Given the description of an element on the screen output the (x, y) to click on. 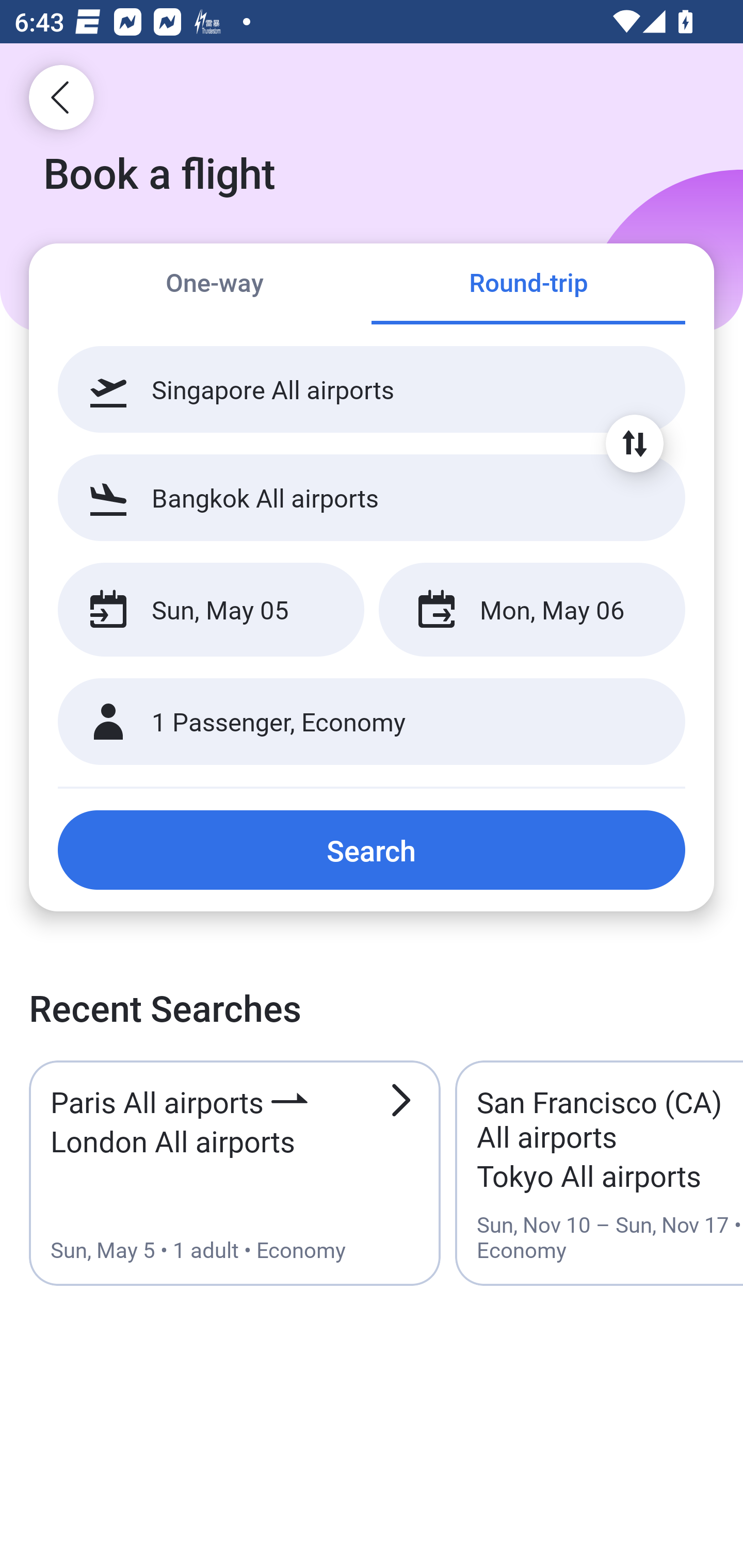
One-way (214, 284)
Singapore All airports (371, 389)
Bangkok All airports (371, 497)
Sun, May 05 (210, 609)
Mon, May 06 (531, 609)
1 Passenger, Economy (371, 721)
Search (371, 849)
